Given the description of an element on the screen output the (x, y) to click on. 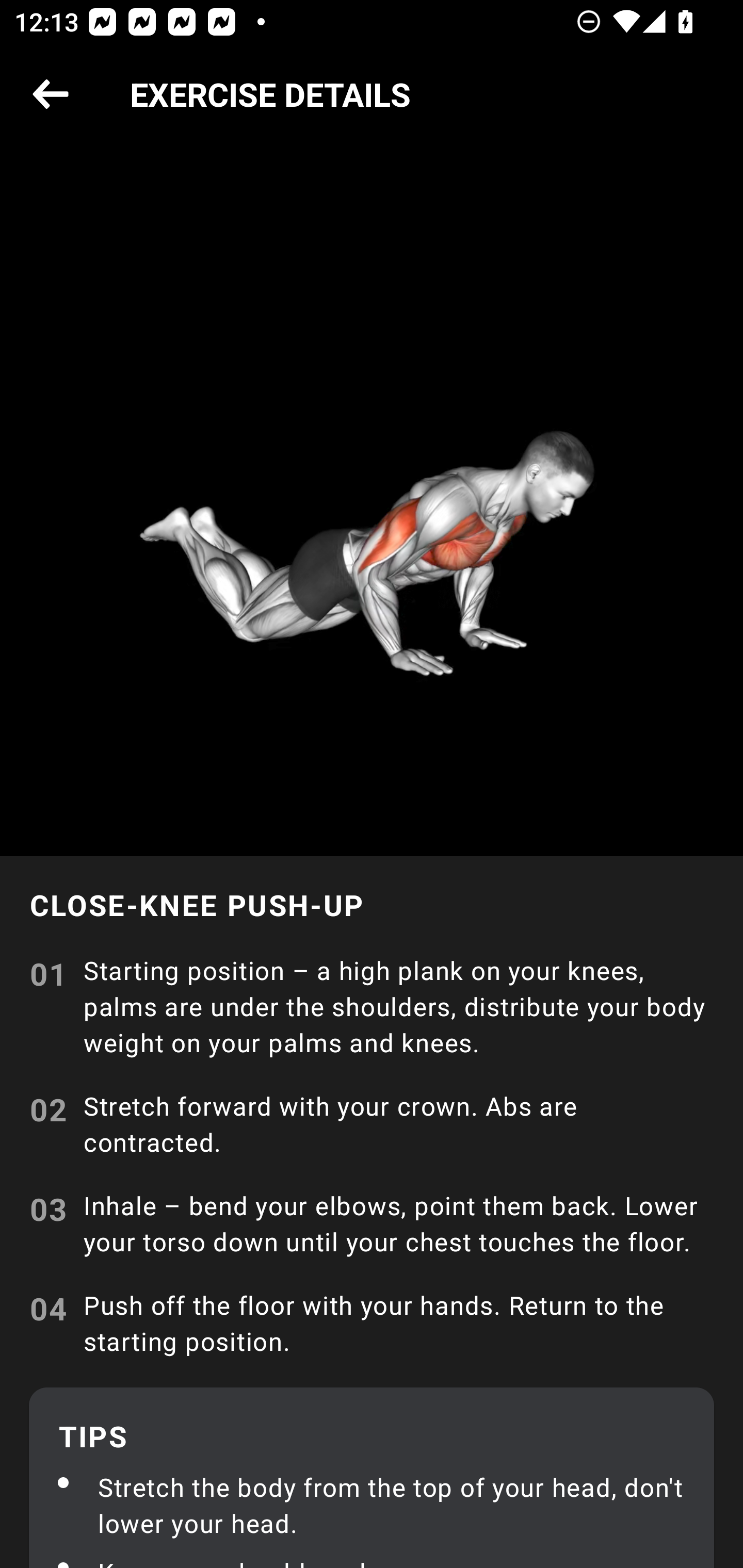
Back Icon (50, 94)
